Given the description of an element on the screen output the (x, y) to click on. 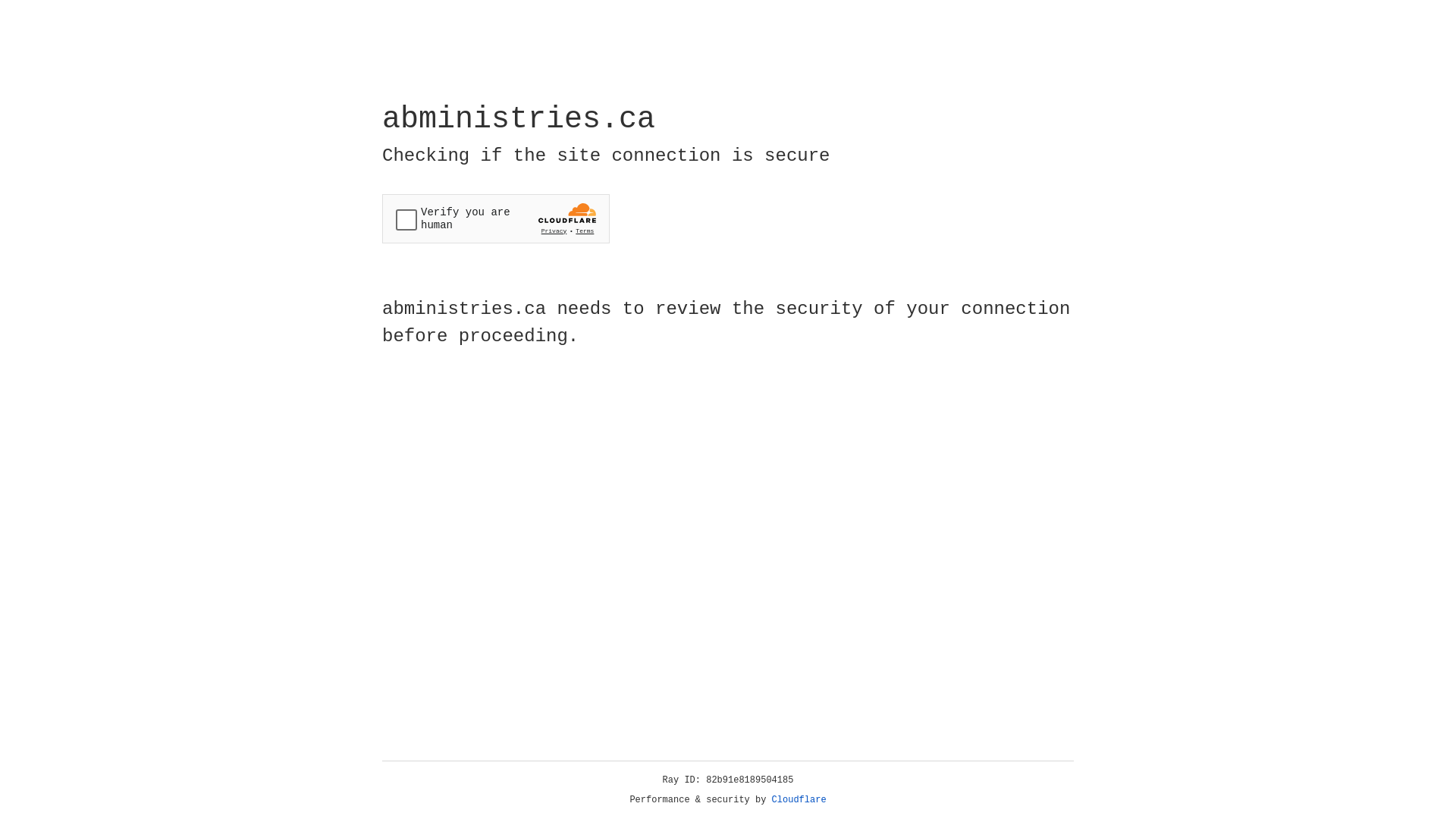
Cloudflare Element type: text (798, 799)
Widget containing a Cloudflare security challenge Element type: hover (495, 218)
